Given the description of an element on the screen output the (x, y) to click on. 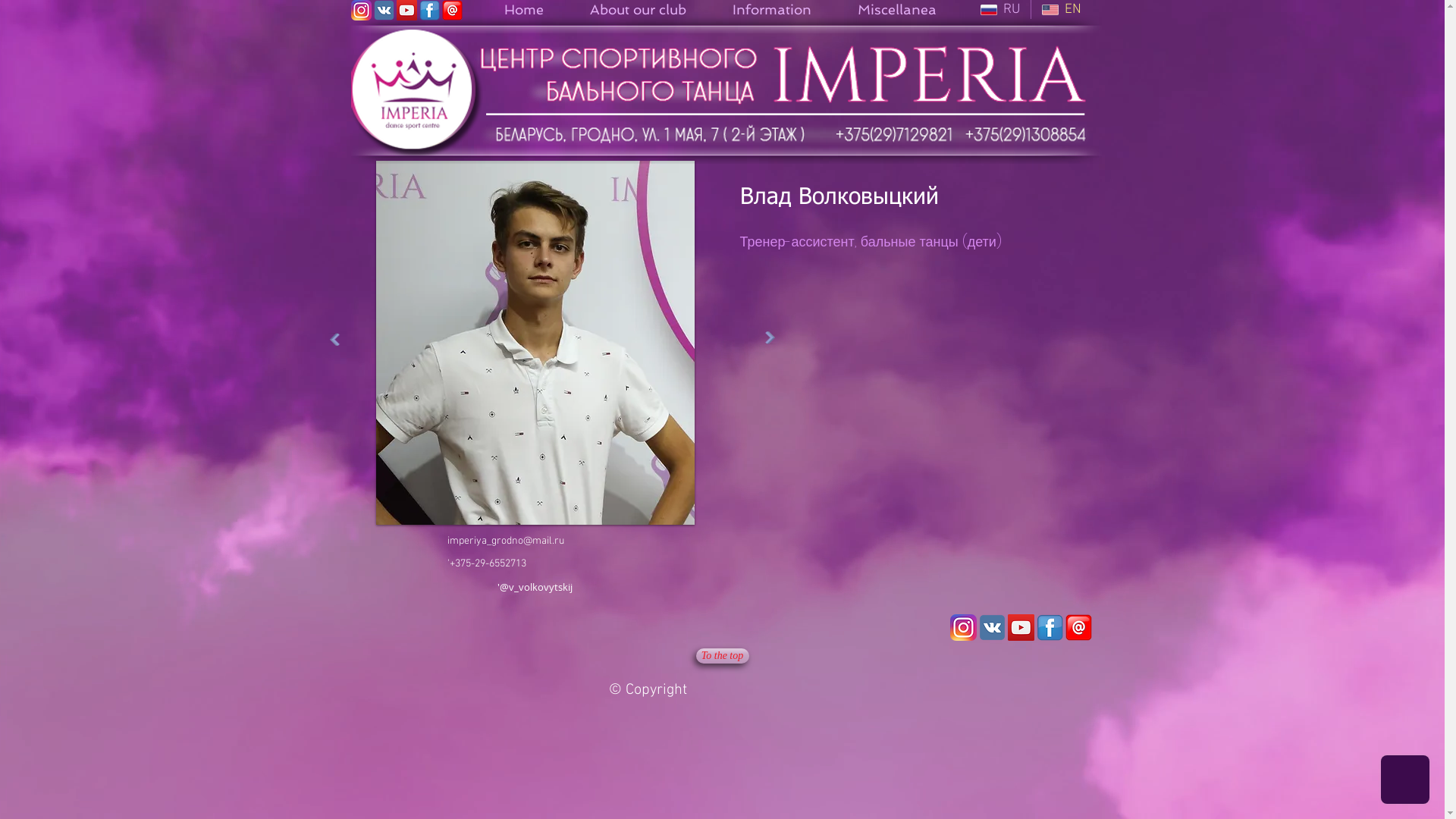
'@v_volkovytskij Element type: text (534, 586)
RU Element type: text (999, 9)
EN Element type: text (1061, 9)
imperiya_grodno@mail.ru Element type: text (505, 540)
To the top Element type: text (722, 655)
Site Search Element type: hover (687, 625)
